Given the description of an element on the screen output the (x, y) to click on. 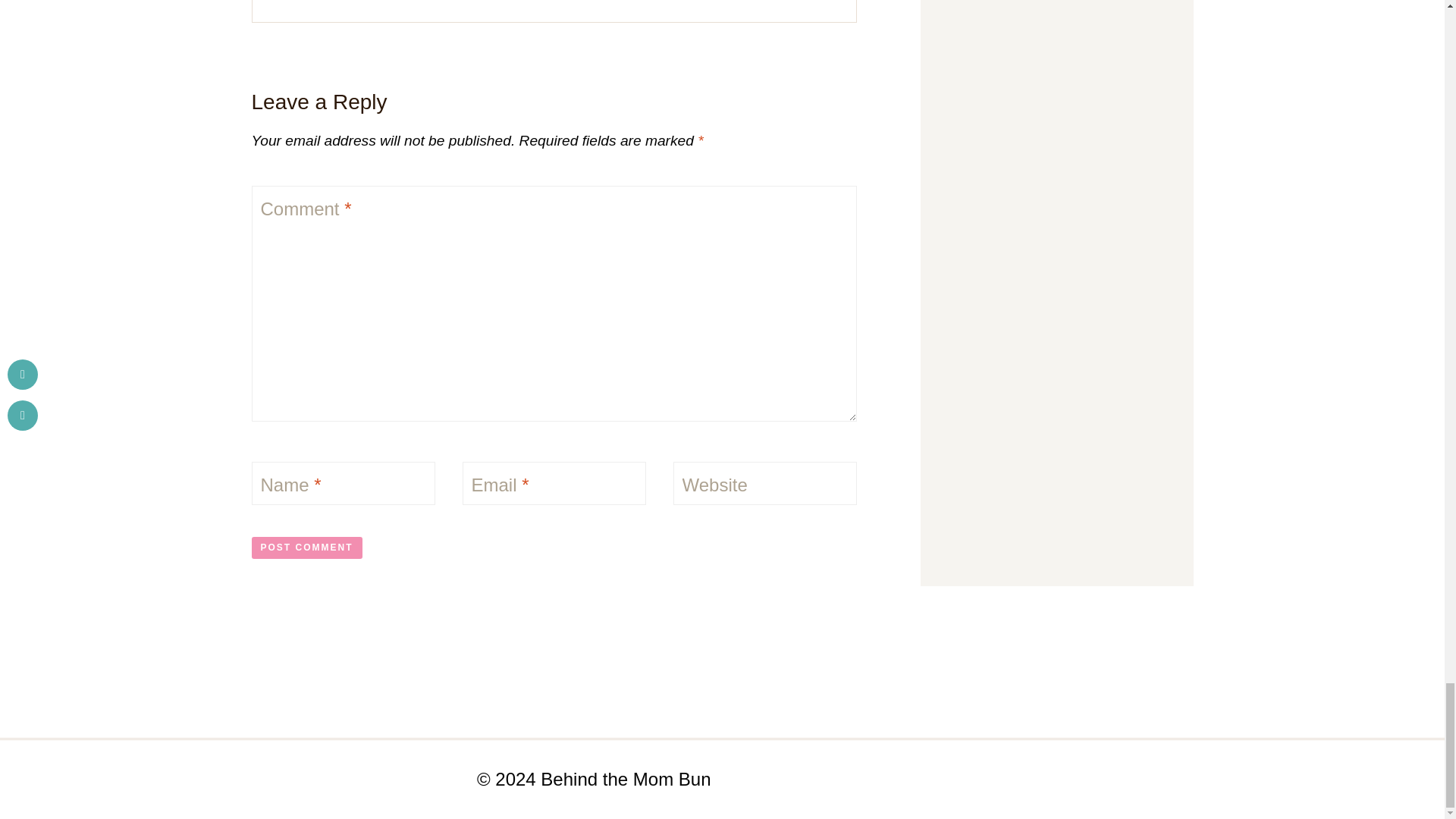
Post Comment (306, 547)
